Given the description of an element on the screen output the (x, y) to click on. 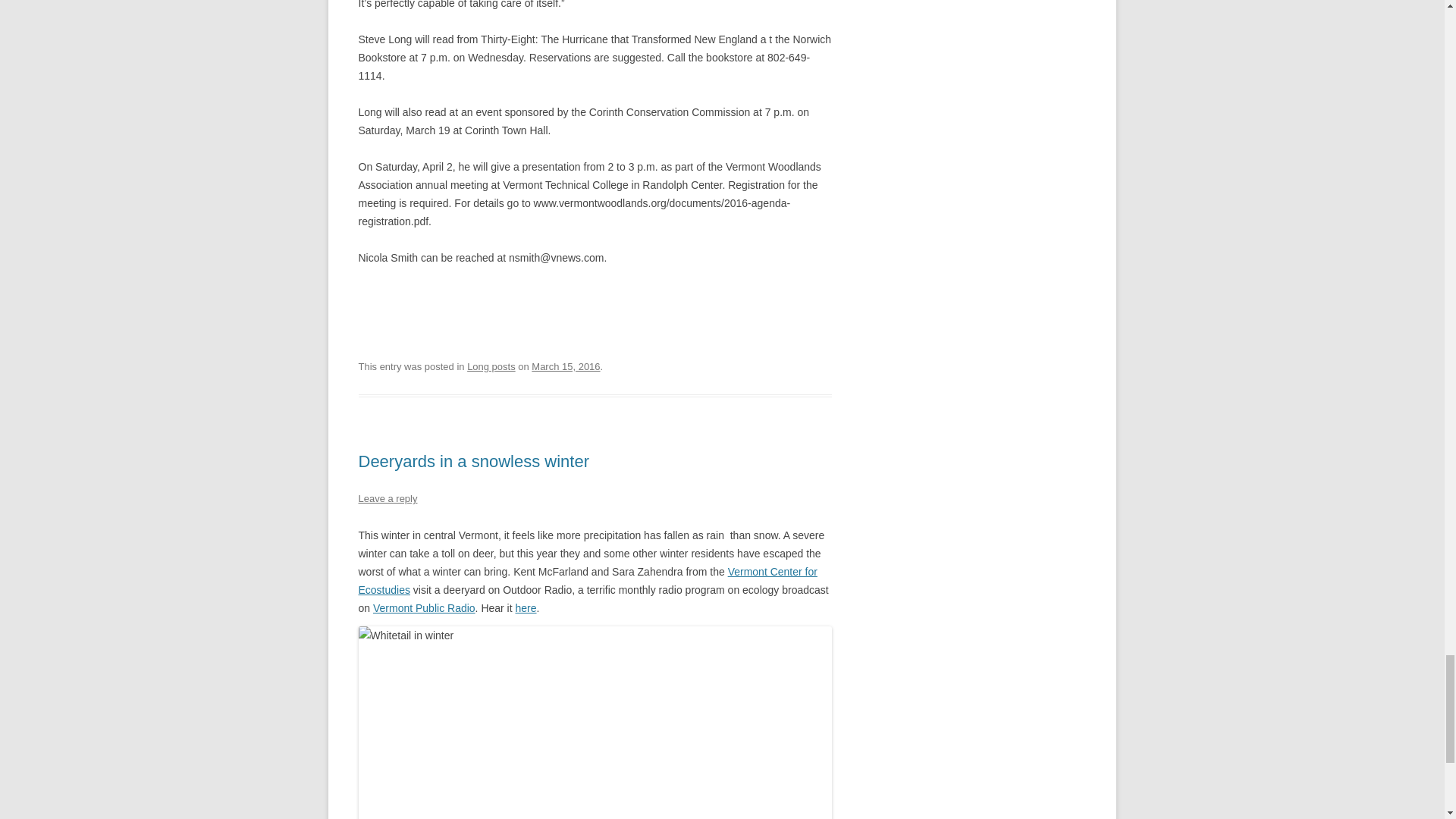
9:19 am (565, 366)
March 15, 2016 (565, 366)
Long posts (491, 366)
